Given the description of an element on the screen output the (x, y) to click on. 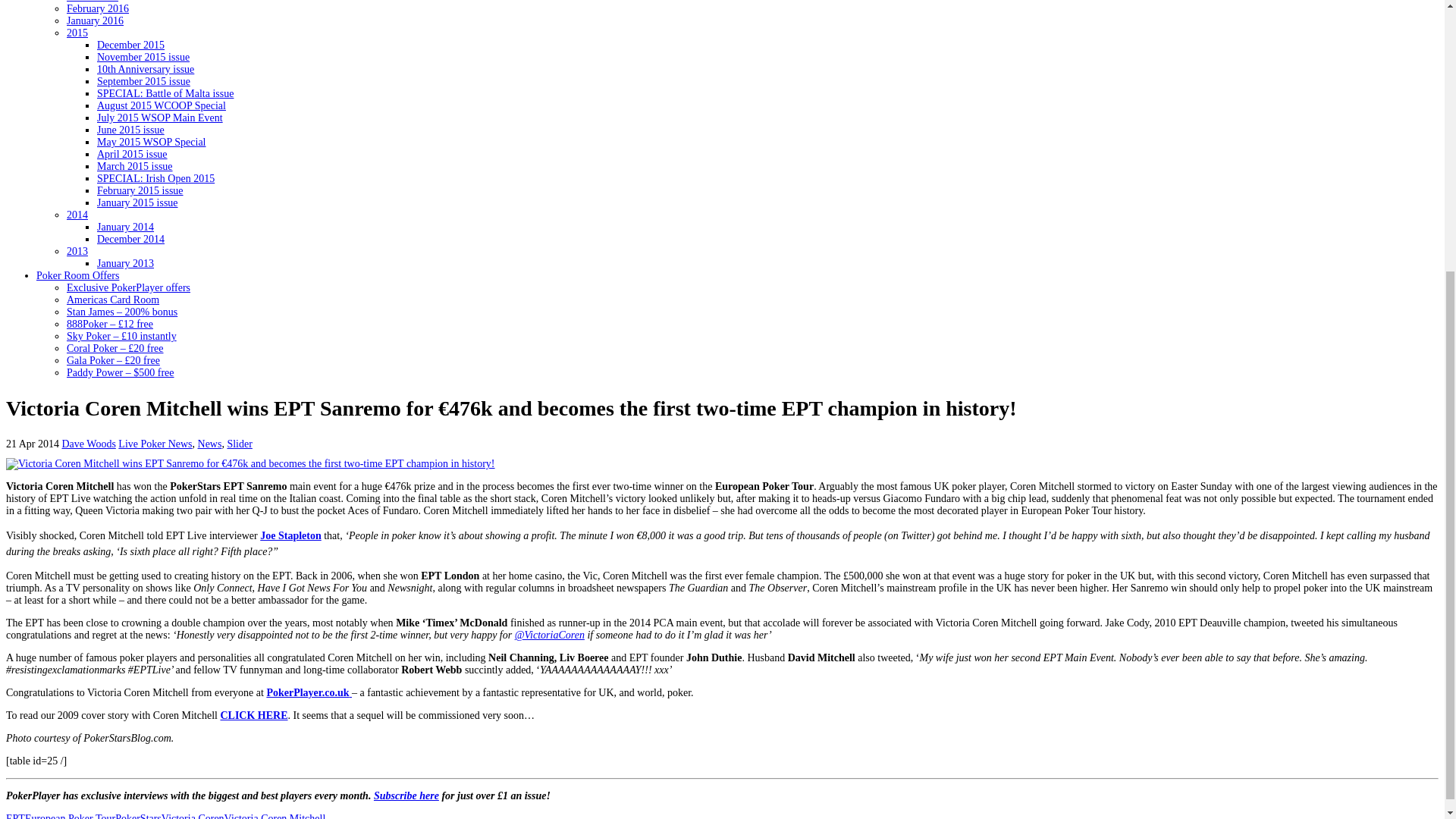
Posts by Dave Woods (89, 443)
September 2015 issue (143, 81)
February 2016 (97, 8)
2015 (76, 32)
SPECIAL: Battle of Malta issue (164, 93)
10th Anniversary issue (145, 69)
November 2015 issue (143, 57)
January 2016 (94, 20)
March 2016 (91, 1)
August 2015 WCOOP Special (161, 105)
